Given the description of an element on the screen output the (x, y) to click on. 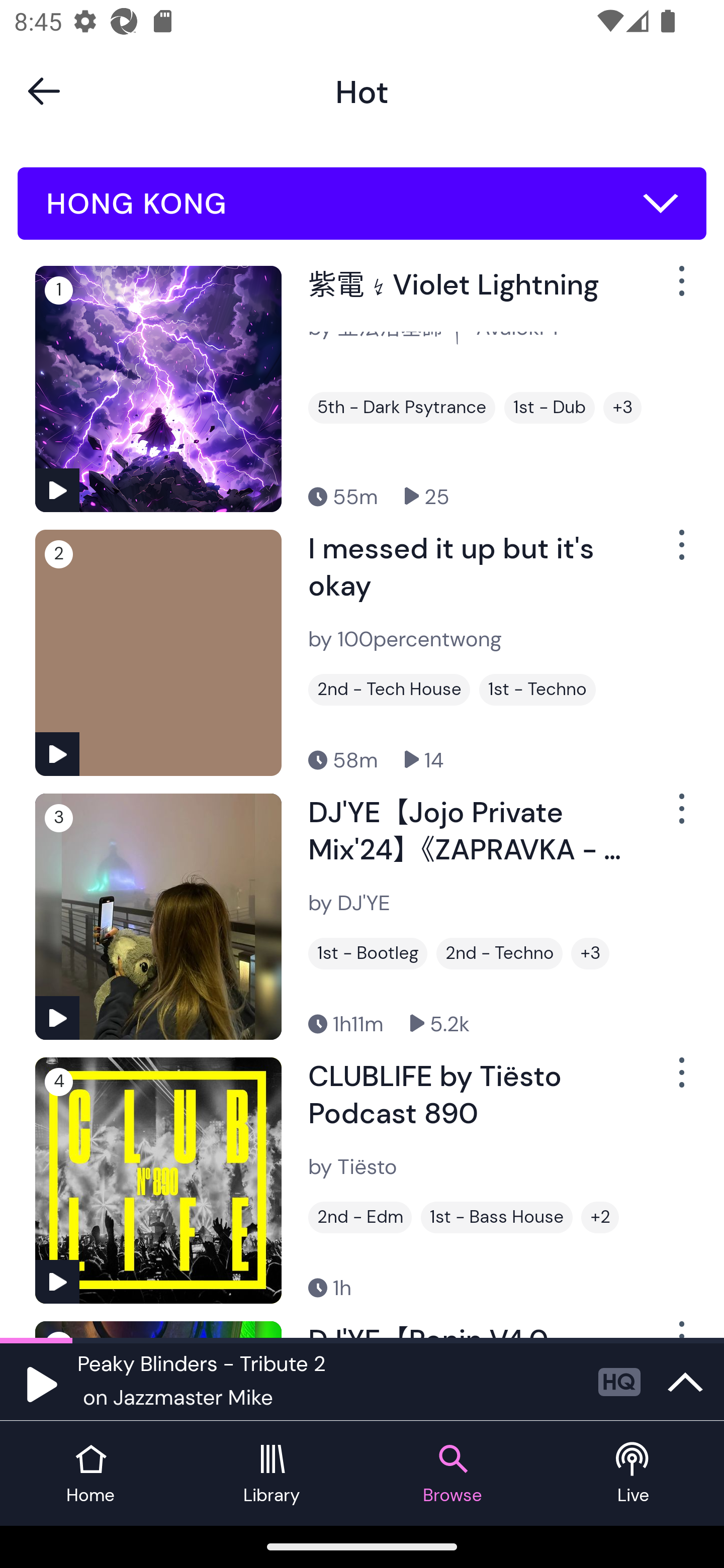
HONG KONG (361, 203)
Show Options Menu Button (679, 289)
5th - Dark Psytrance (401, 407)
1st - Dub (549, 407)
Show Options Menu Button (679, 552)
2nd - Tech House (388, 689)
1st - Techno (537, 689)
Show Options Menu Button (679, 815)
1st - Bootleg (367, 953)
2nd - Techno (499, 953)
Show Options Menu Button (679, 1079)
2nd - Edm (359, 1217)
1st - Bass House (496, 1217)
Home tab Home (90, 1473)
Library tab Library (271, 1473)
Browse tab Browse (452, 1473)
Live tab Live (633, 1473)
